Given the description of an element on the screen output the (x, y) to click on. 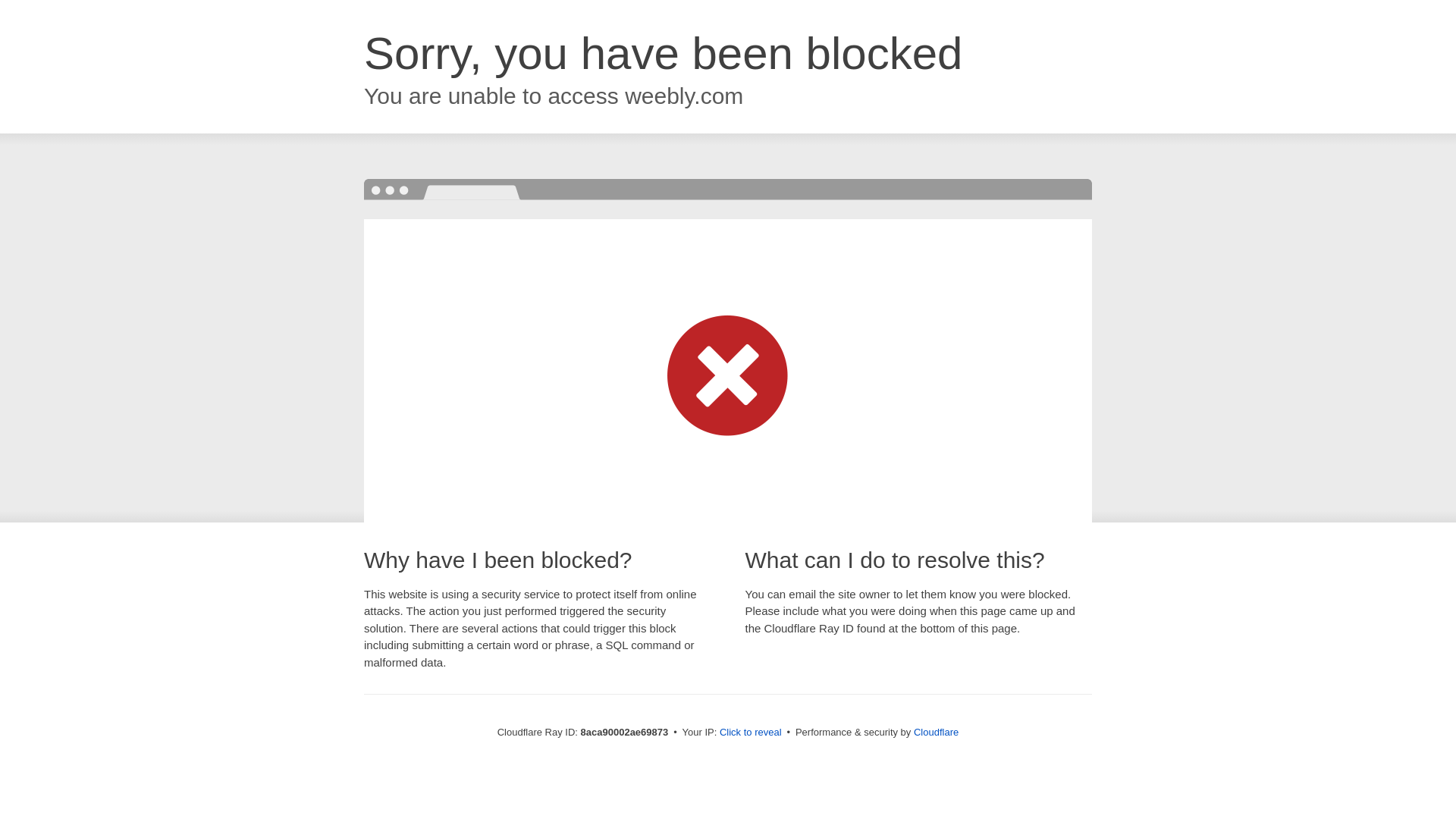
Click to reveal (750, 732)
Cloudflare (936, 731)
